Given the description of an element on the screen output the (x, y) to click on. 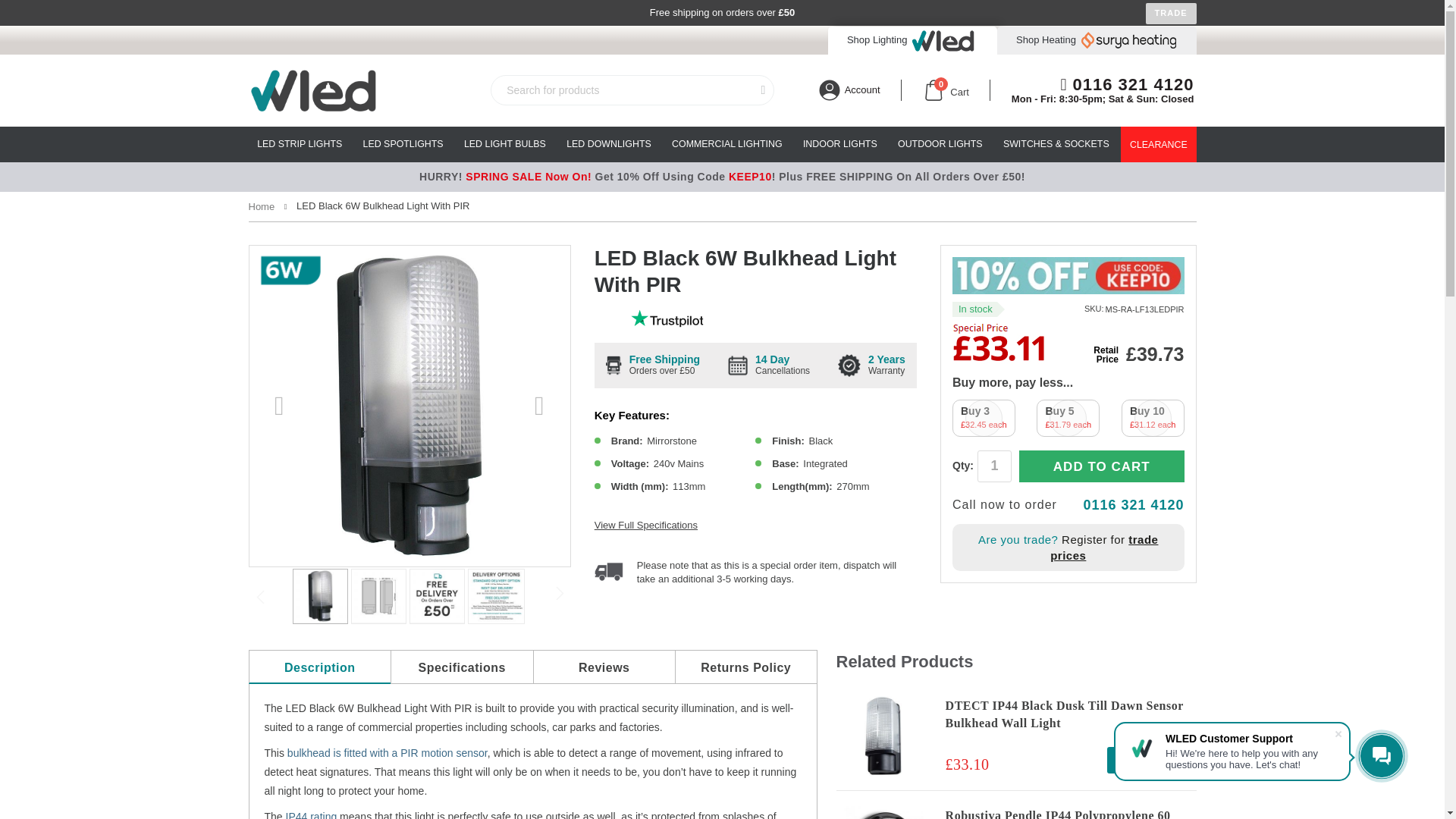
TRADE (1170, 13)
Wholesale LED Lights (368, 90)
LED Strip Lights (298, 143)
1 (946, 89)
LED STRIP LIGHTS (993, 466)
3 (298, 143)
10 (983, 417)
Shop Heating (1153, 417)
0116 321 4120 (1096, 39)
LED SPOTLIGHTS (1126, 84)
5 (402, 143)
Shop Lighting (1067, 417)
